Given the description of an element on the screen output the (x, y) to click on. 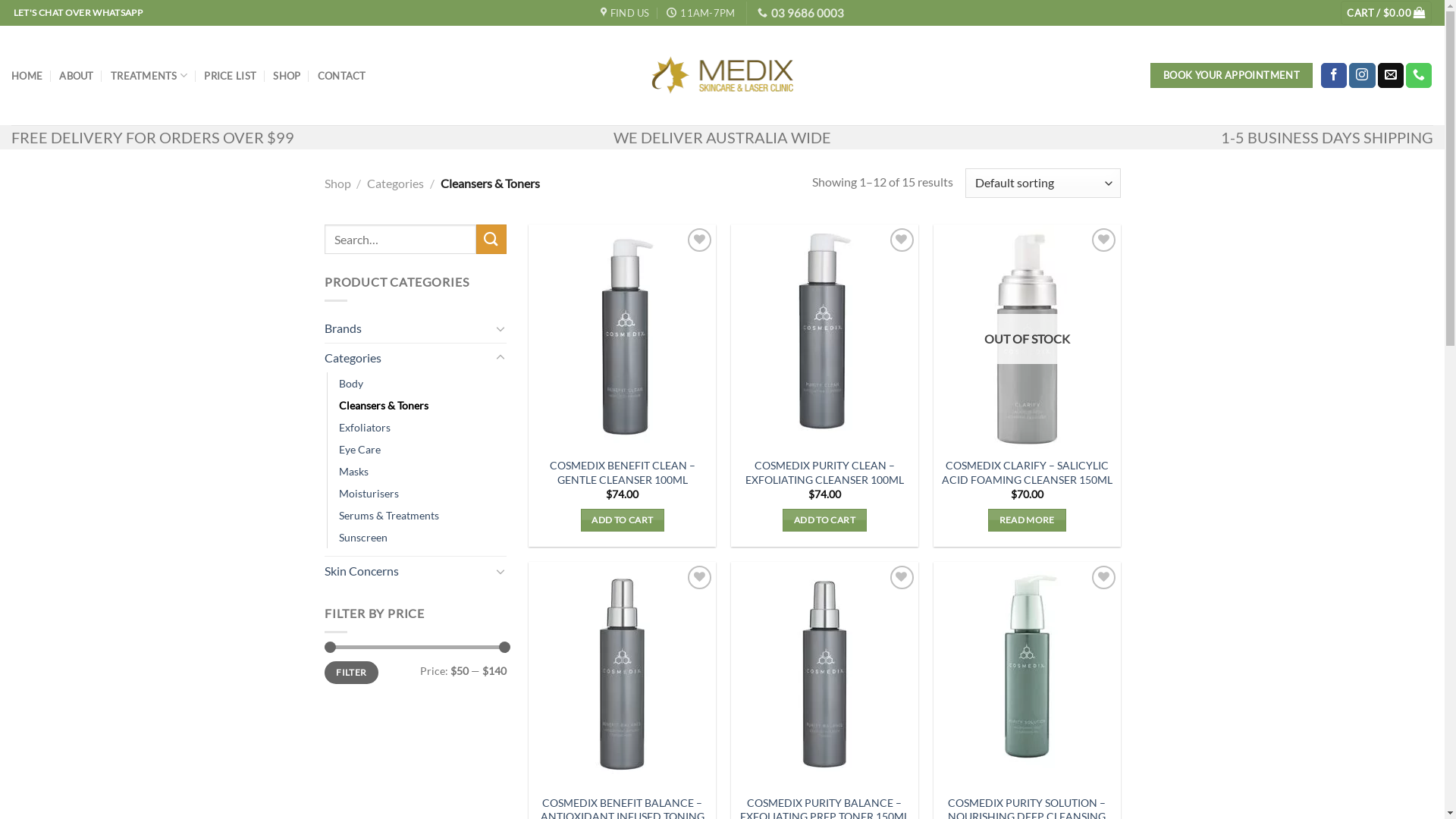
SHOP Element type: text (286, 75)
03 9686 0003 Element type: text (800, 12)
Follow on Facebook Element type: hover (1333, 75)
ABOUT Element type: text (76, 75)
Serums & Treatments Element type: text (388, 515)
Masks Element type: text (352, 471)
Sunscreen Element type: text (362, 537)
FILTER Element type: text (351, 672)
Cleansers & Toners Element type: text (382, 405)
BOOK YOUR APPOINTMENT Element type: text (1231, 75)
Search Element type: text (490, 239)
Brands Element type: text (407, 327)
Eye Care Element type: text (358, 449)
Send us an email Element type: hover (1390, 75)
Moisturisers Element type: text (368, 493)
PRICE LIST Element type: text (229, 75)
ADD TO CART Element type: text (622, 519)
CONTACT Element type: text (341, 75)
ADD TO CART Element type: text (824, 519)
11AM-7PM Element type: text (700, 12)
Categories Element type: text (407, 357)
Call us Element type: hover (1418, 75)
Skin Concerns Element type: text (407, 570)
Exfoliators Element type: text (363, 427)
HOME Element type: text (26, 75)
LET'S CHAT OVER WHATSAPP Element type: text (77, 12)
FIND US Element type: text (624, 12)
Body Element type: text (350, 382)
Follow on Instagram Element type: hover (1361, 75)
Categories Element type: text (395, 182)
CART / $0.00 Element type: text (1386, 12)
READ MORE Element type: text (1027, 519)
Shop Element type: text (337, 182)
TREATMENTS Element type: text (148, 75)
